Given the description of an element on the screen output the (x, y) to click on. 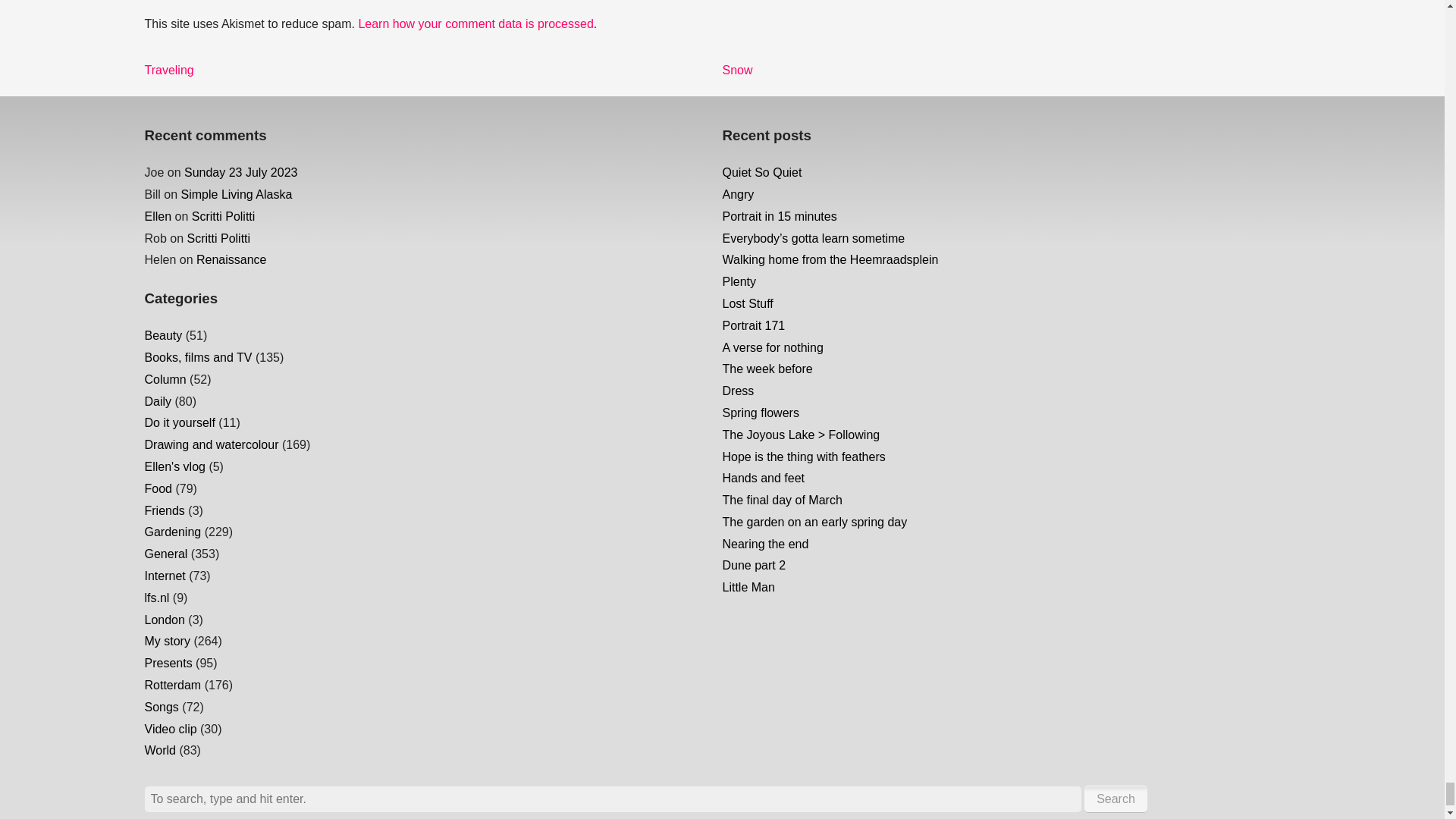
lfs.nl (168, 69)
Daily (156, 597)
Learn how your comment data is processed (157, 400)
Friends (737, 69)
Ellen's vlog (475, 23)
Internet (164, 510)
Gardening (174, 466)
London (164, 575)
Simple Living Alaska (172, 531)
Scritti Politti (164, 619)
Scritti Politti (236, 194)
Renaissance (224, 215)
Sunday 23 July 2023 (218, 237)
